Given the description of an element on the screen output the (x, y) to click on. 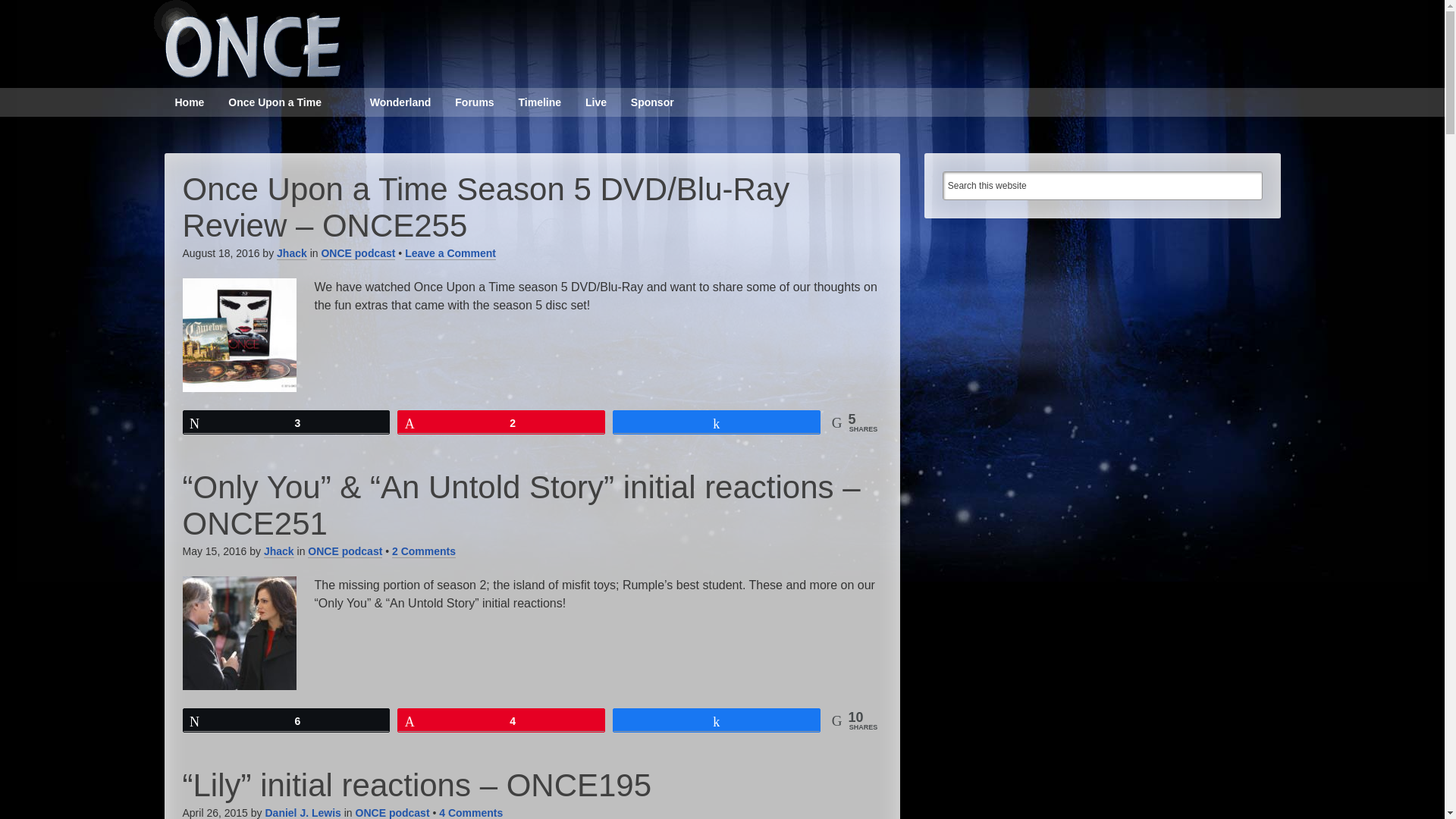
ONCE podcast (392, 812)
4 Comments (470, 812)
Wonderland (400, 102)
ONCE - Once Upon a Time podcast (242, 39)
3 (286, 422)
Once Upon a Time (273, 102)
2 (500, 422)
ONCE podcast (344, 551)
Forums (473, 102)
Sponsor (652, 102)
4 (500, 720)
2 Comments (423, 551)
Daniel J. Lewis (302, 812)
